Given the description of an element on the screen output the (x, y) to click on. 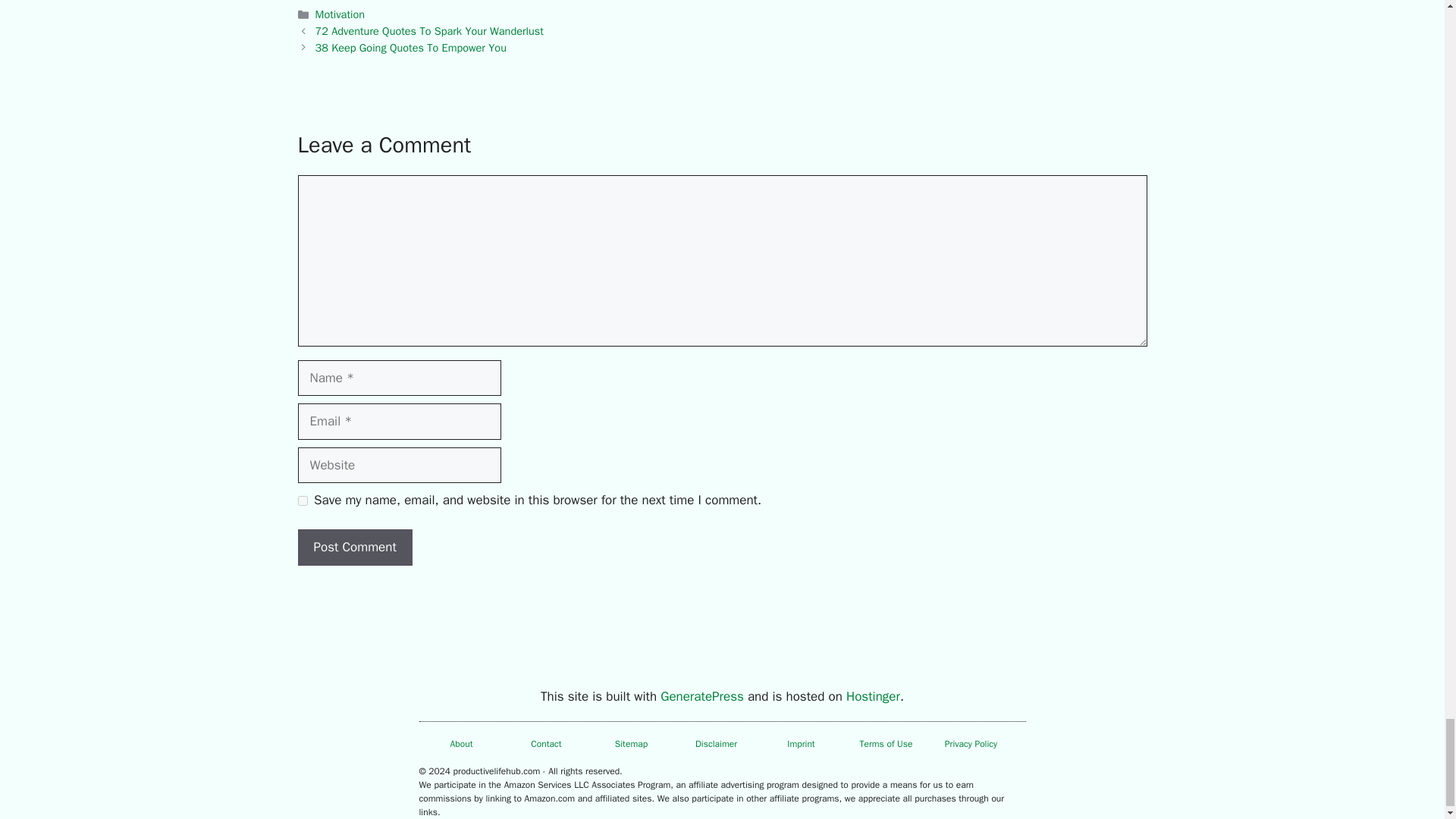
Disclaimer (715, 743)
Post Comment (354, 547)
38 Keep Going Quotes To Empower You (410, 47)
Terms of Use (885, 743)
GeneratePress (702, 696)
About (461, 743)
yes (302, 501)
Privacy Policy (970, 743)
Contact (545, 743)
Hostinger (872, 696)
